Given the description of an element on the screen output the (x, y) to click on. 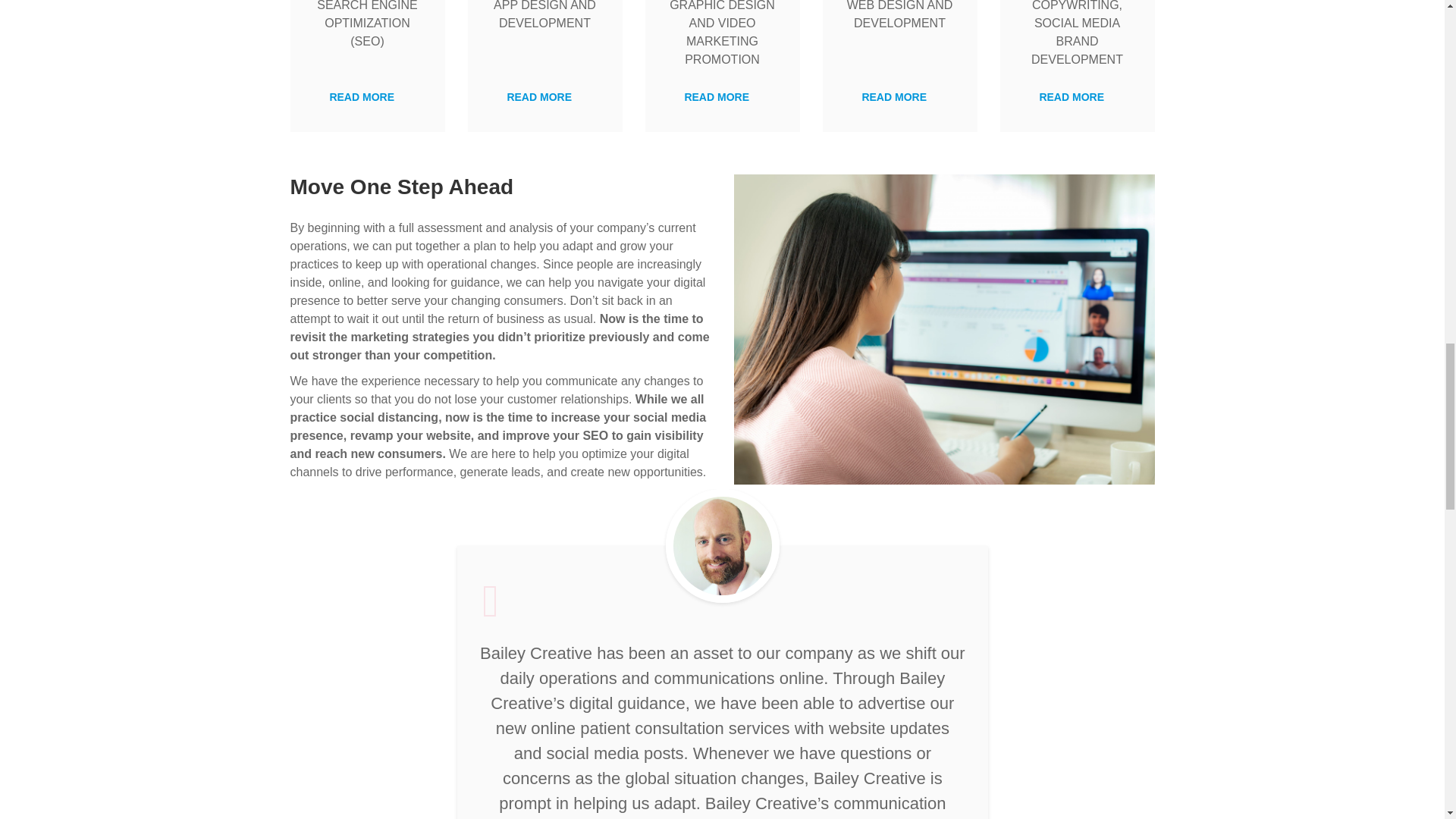
READ MORE (544, 97)
READ MORE (366, 97)
READ MORE (899, 97)
READ MORE (722, 97)
